Given the description of an element on the screen output the (x, y) to click on. 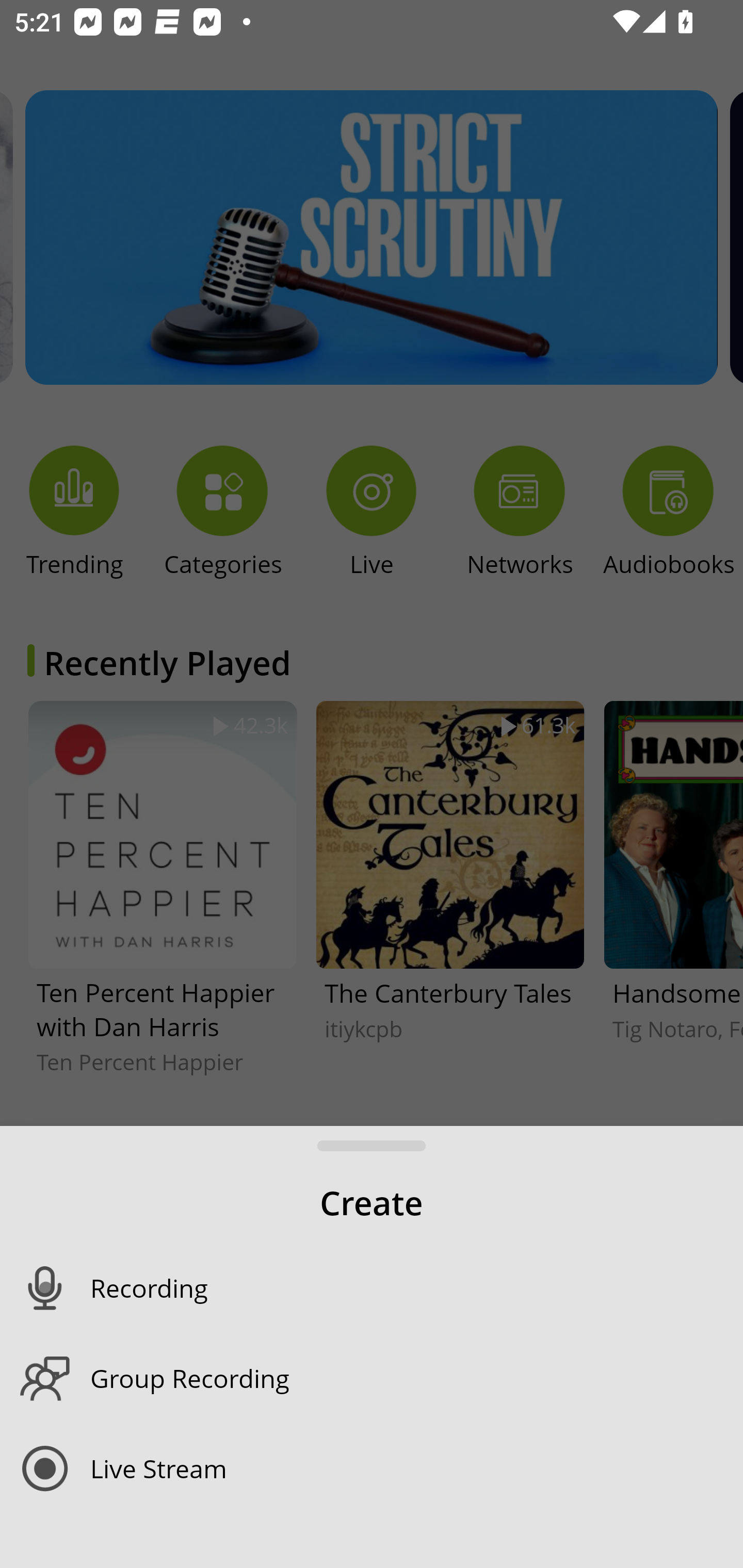
Recording (416, 1287)
Group Recording (416, 1377)
Live Stream (416, 1468)
